Given the description of an element on the screen output the (x, y) to click on. 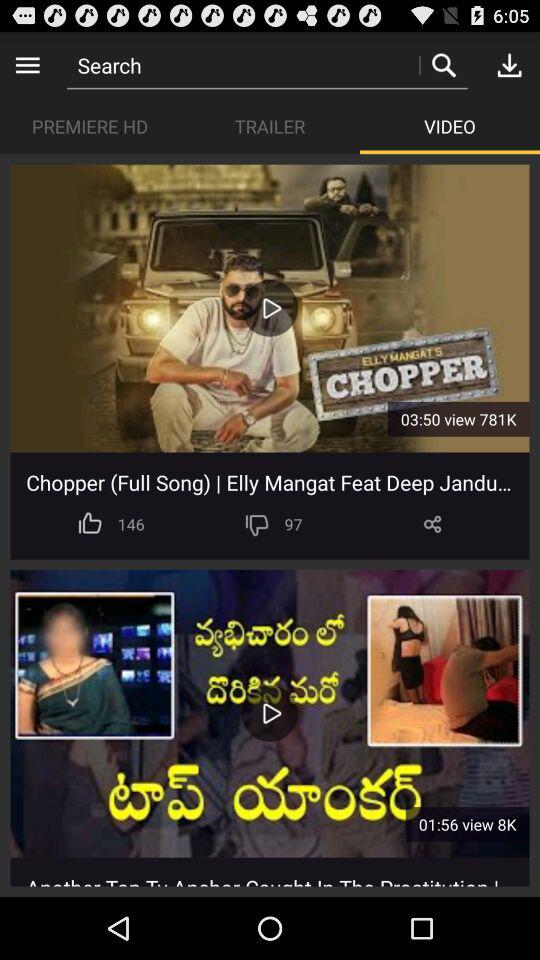
choose the app to the right of the premiere hd icon (270, 125)
